Given the description of an element on the screen output the (x, y) to click on. 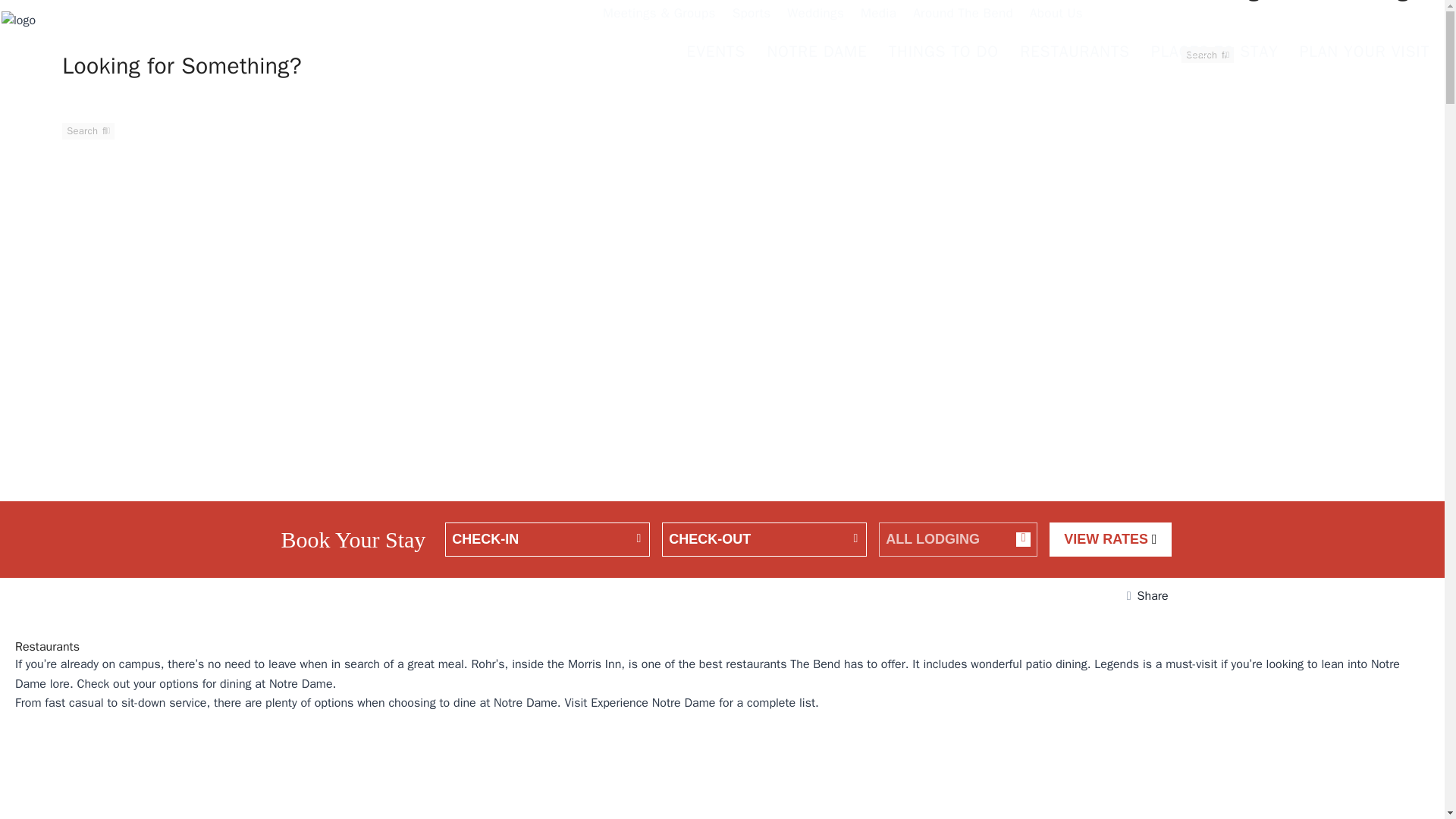
PLACES TO STAY (1215, 53)
PLAN YOUR VISIT (1365, 53)
THINGS TO DO (944, 53)
Check Out (764, 539)
RESTAURANTS (1075, 53)
Around The Bend (966, 15)
NOTRE DAME (818, 53)
Check-Out (764, 539)
About Us (1059, 15)
Weddings (819, 15)
eNews (1143, 12)
EVENTS (717, 53)
Search (1206, 54)
Check-In (547, 539)
Sports (755, 15)
